Given the description of an element on the screen output the (x, y) to click on. 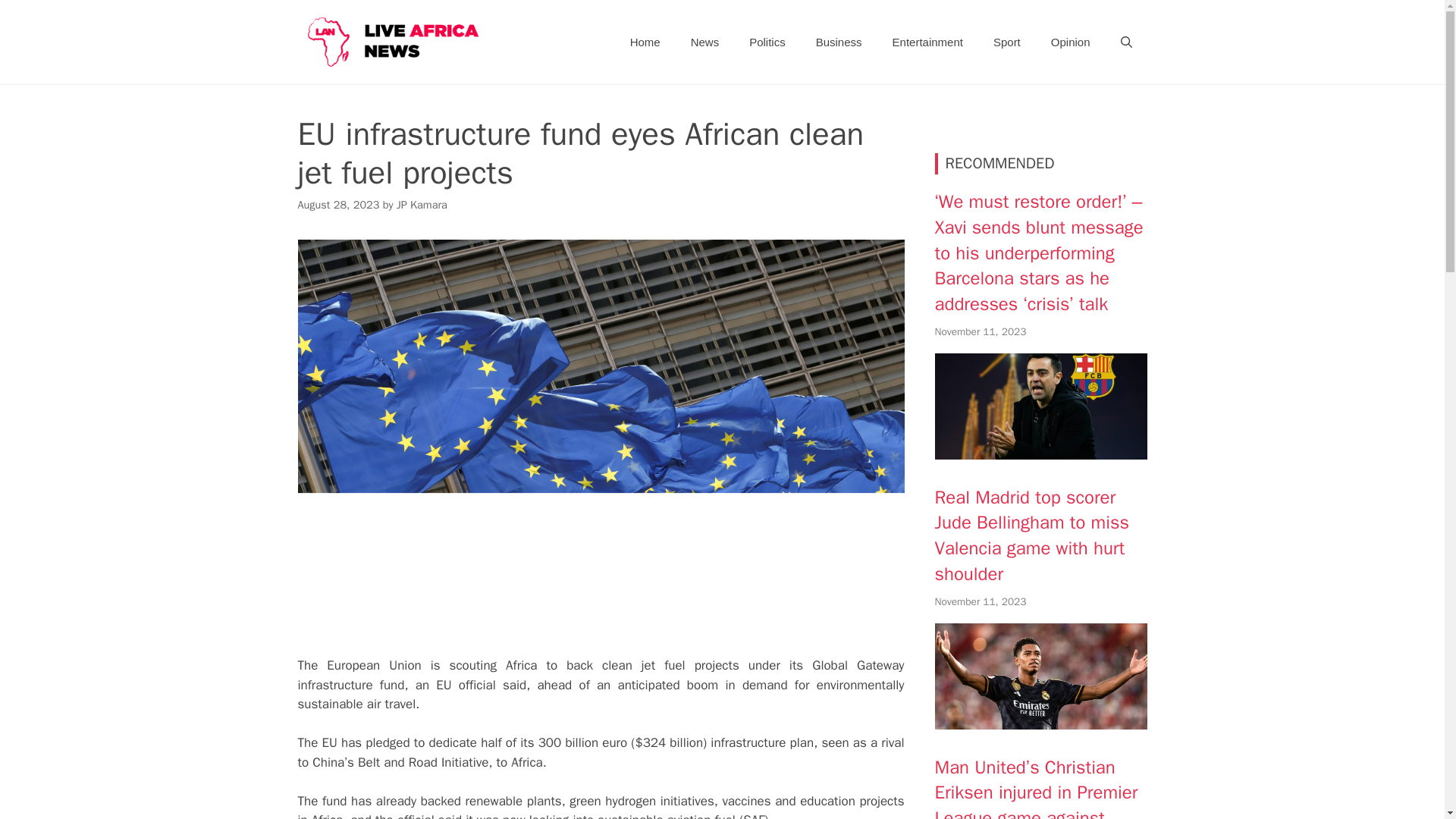
News (705, 42)
JP Kamara (421, 204)
Politics (766, 42)
Business (838, 42)
View all posts by JP Kamara (421, 204)
Entertainment (927, 42)
Sport (1006, 42)
6:23 pm (980, 331)
Home (644, 42)
